Given the description of an element on the screen output the (x, y) to click on. 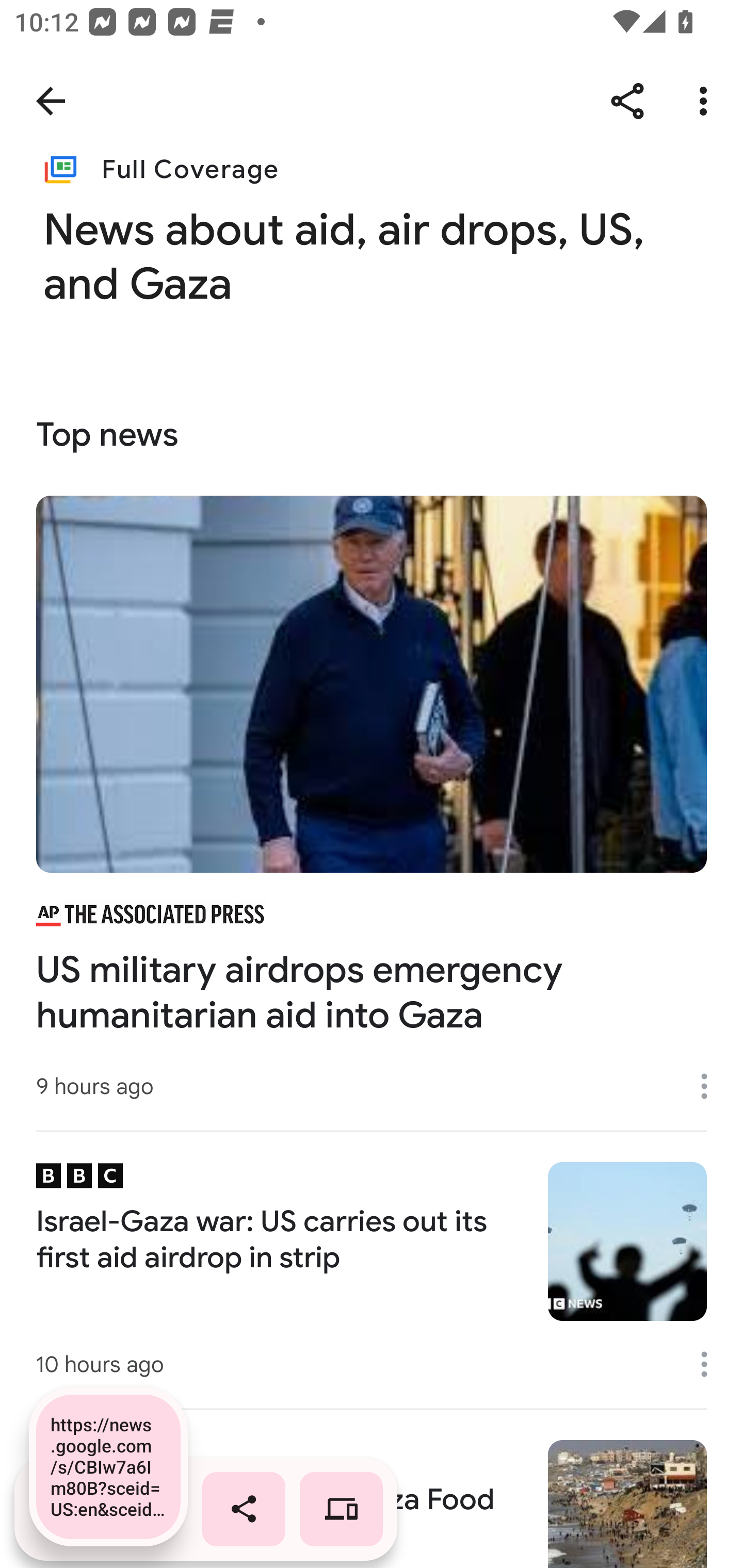
Navigate up (50, 101)
Share (626, 101)
More options (706, 101)
More options (711, 1085)
More options (711, 1364)
